Given the description of an element on the screen output the (x, y) to click on. 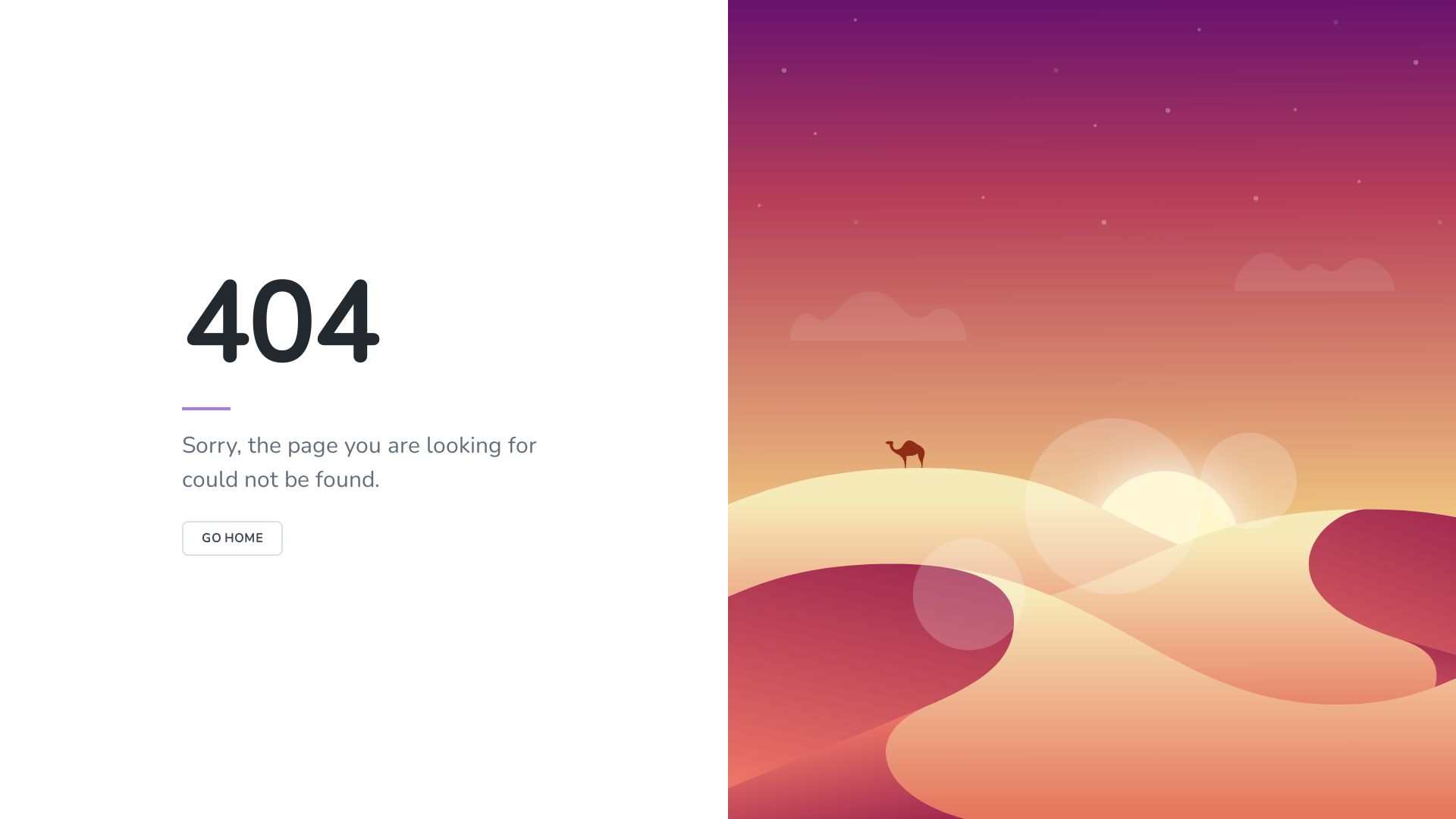
GO HOME Element type: text (232, 538)
GO HOME Element type: text (232, 537)
